Given the description of an element on the screen output the (x, y) to click on. 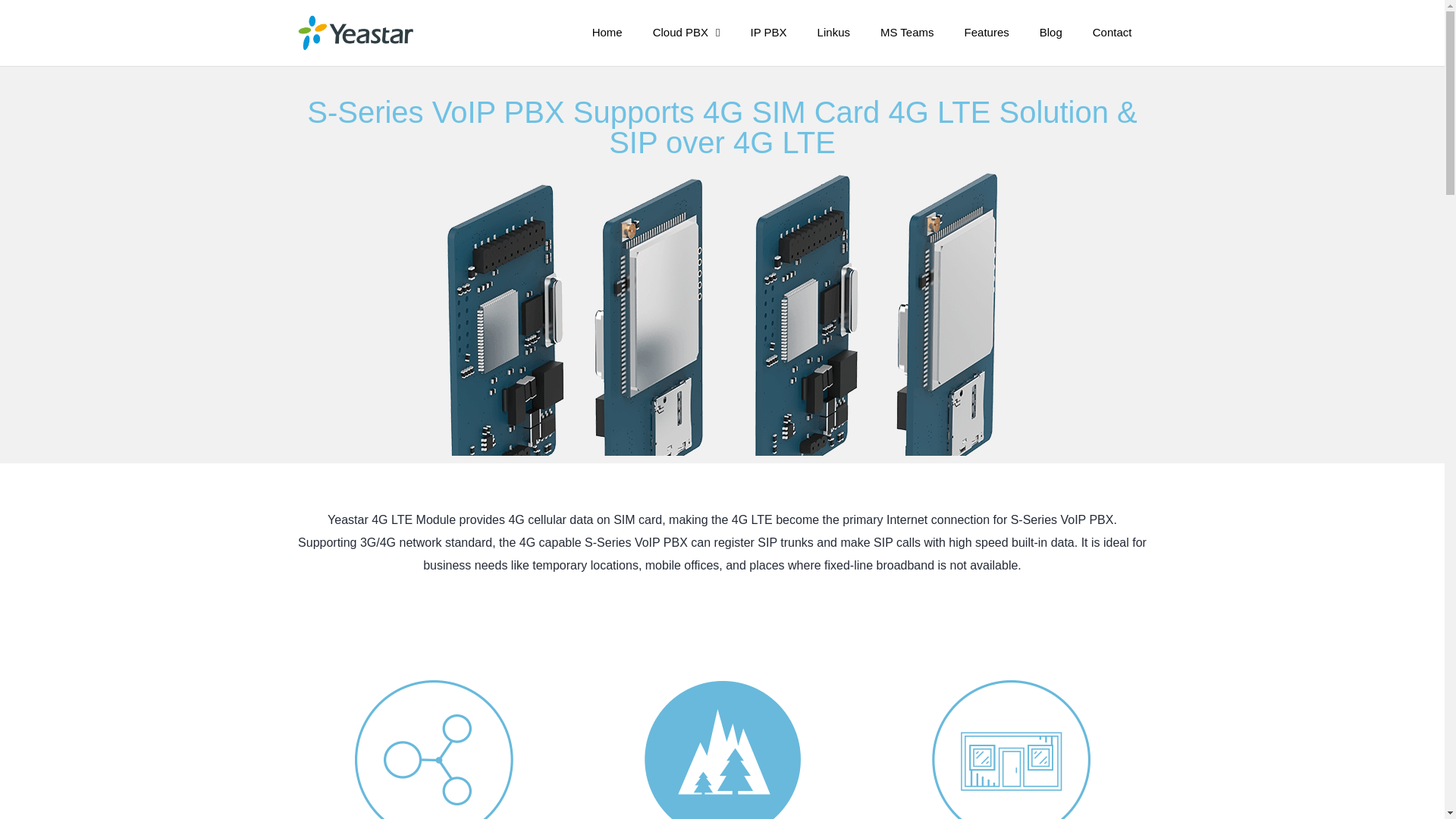
Home (606, 32)
Linkus (833, 32)
Contact (1112, 32)
IP PBX (768, 32)
Blog (1051, 32)
Cloud PBX (686, 32)
Features (987, 32)
MS Teams (906, 32)
